Given the description of an element on the screen output the (x, y) to click on. 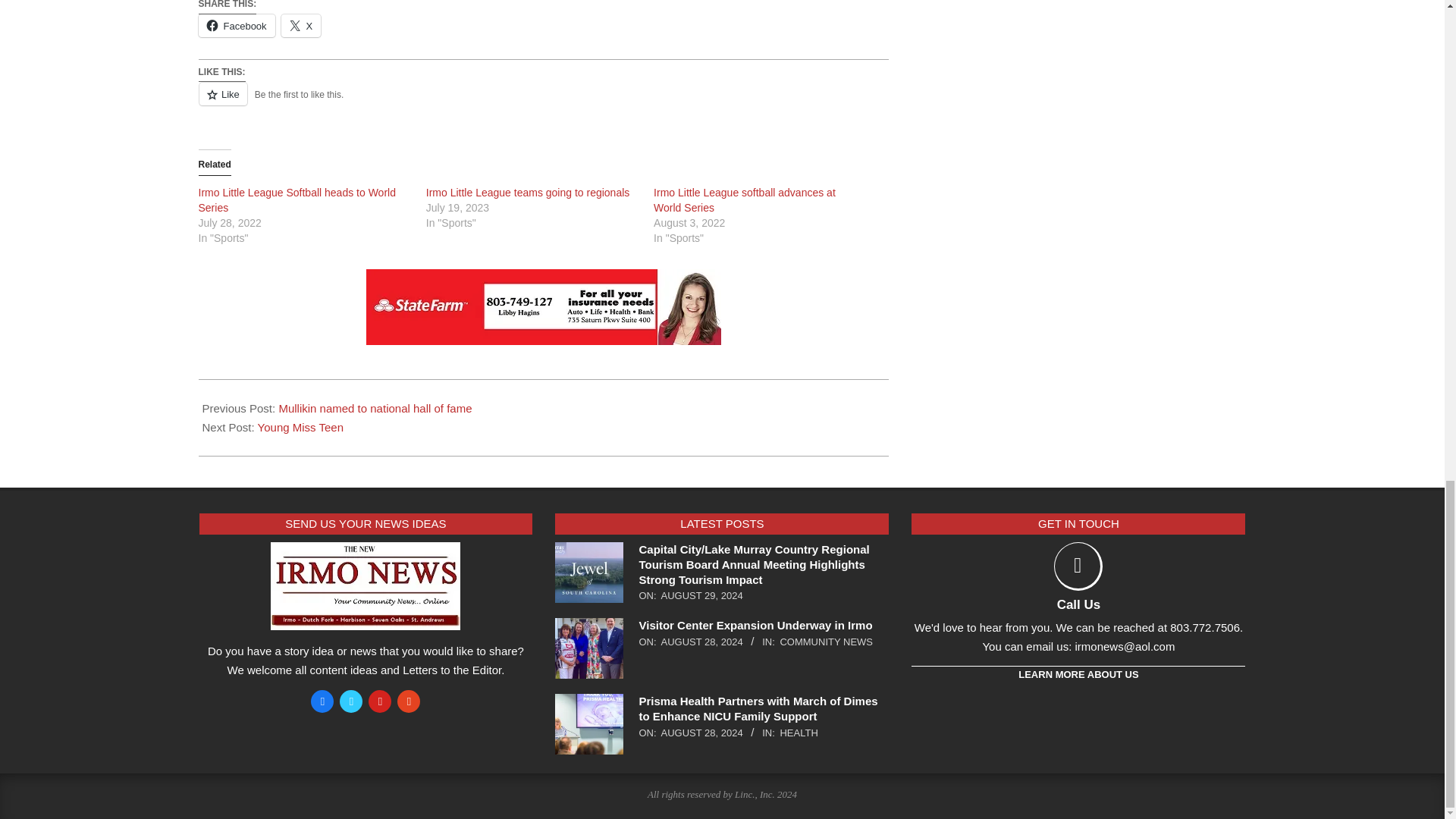
Irmo Little League Softball heads to World Series (297, 199)
Click to share on Facebook (236, 25)
Irmo Little League teams going to regionals (528, 192)
Mullikin named to national hall of fame (374, 408)
Wednesday, August 28, 2024, 6:19 pm (701, 732)
Wednesday, August 28, 2024, 6:32 pm (701, 641)
Click to share on X (301, 25)
Young Miss Teen (300, 427)
Irmo Little League softball advances at World Series (744, 199)
Like or Reblog (543, 102)
